Given the description of an element on the screen output the (x, y) to click on. 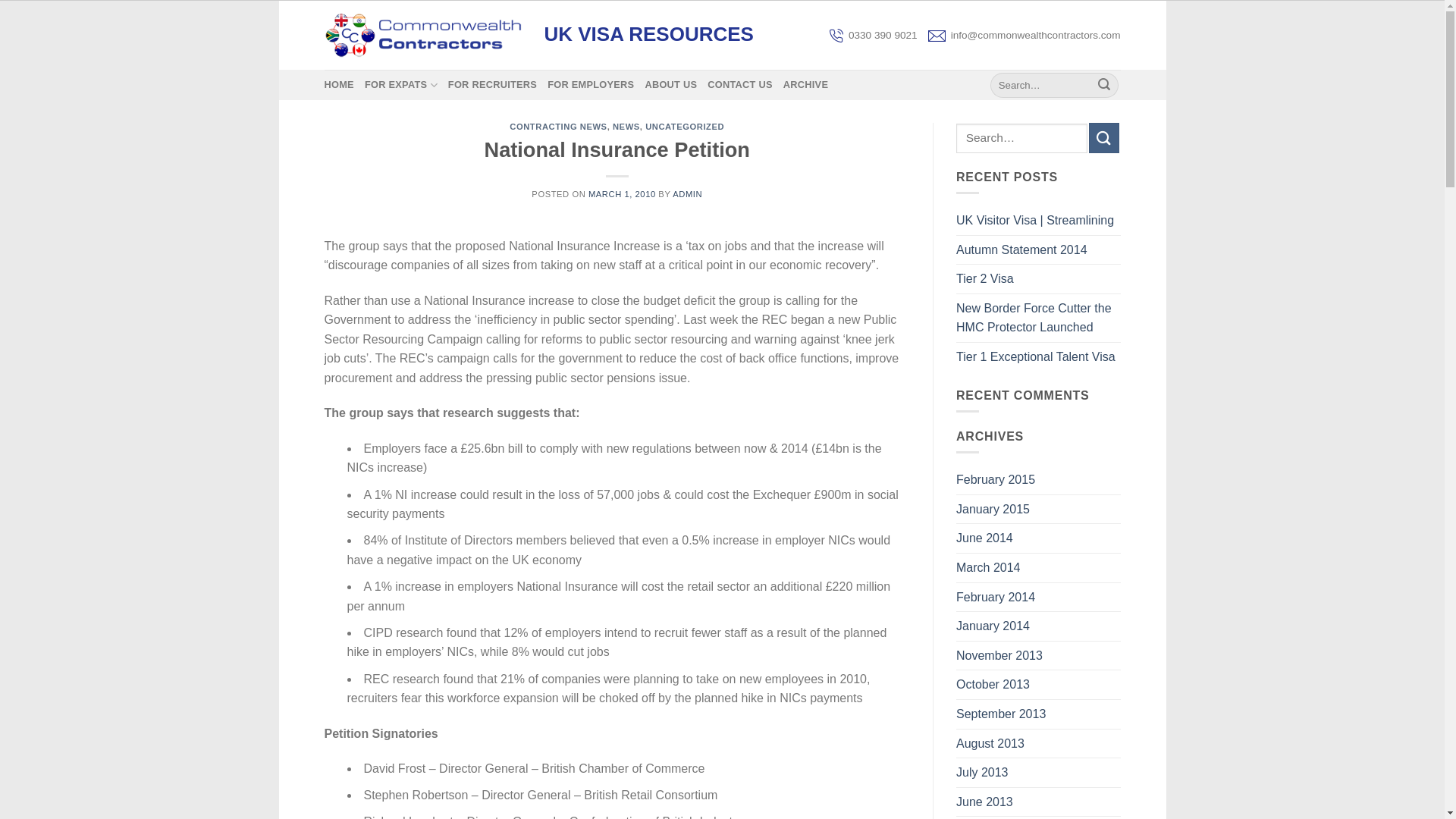
FOR EMPLOYERS (590, 84)
CONTRACTING NEWS (558, 126)
ADMIN (686, 194)
UNCATEGORIZED (684, 126)
ABOUT US (671, 84)
FOR RECRUITERS (492, 84)
ARCHIVE (805, 84)
FOR EXPATS (401, 84)
NEWS (626, 126)
